Given the description of an element on the screen output the (x, y) to click on. 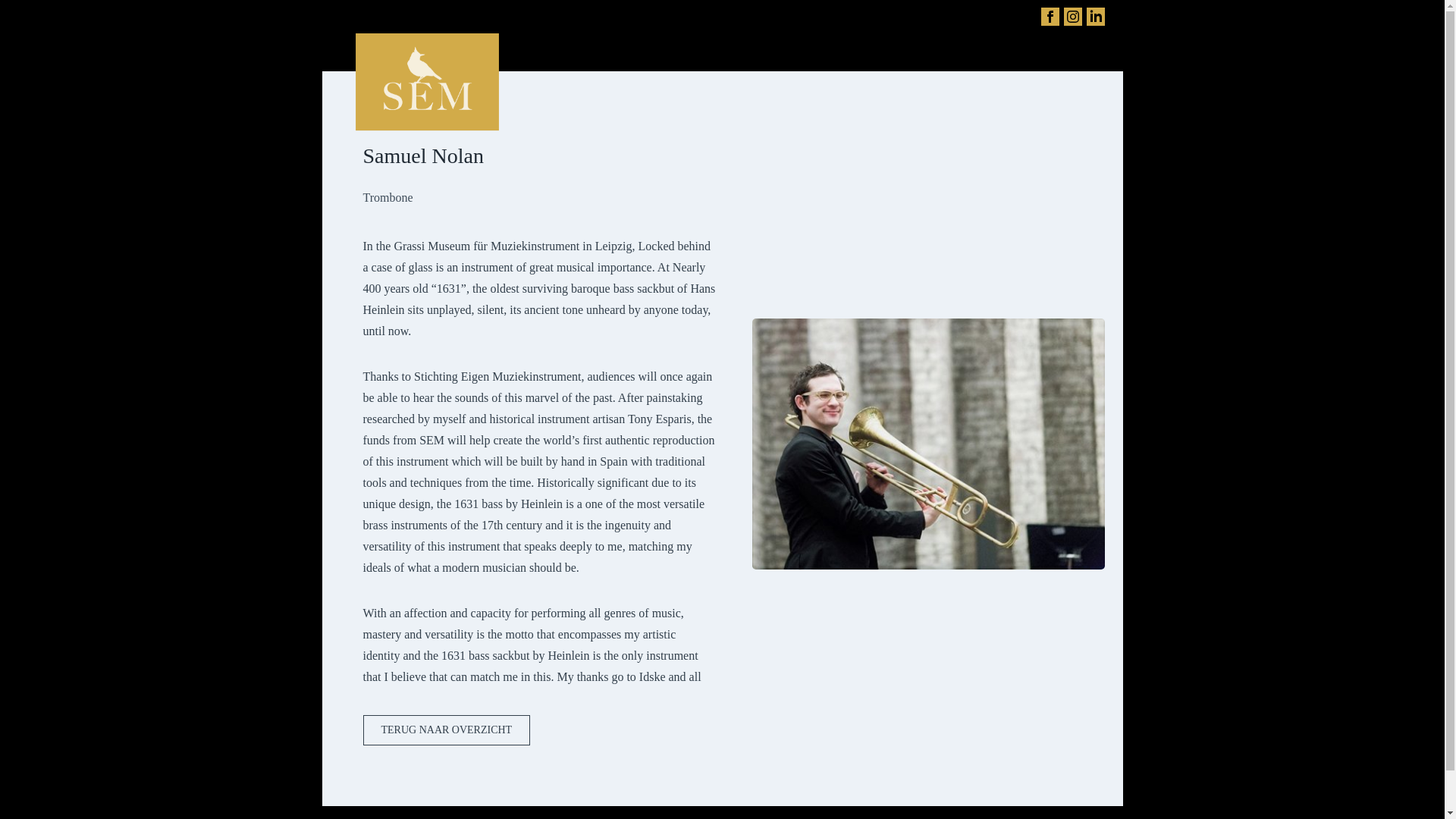
Leergang (723, 818)
TERUG NAAR OVERZICHT (445, 729)
Concertagenda (539, 818)
Steun SEM (801, 818)
Welkom (456, 818)
